Given the description of an element on the screen output the (x, y) to click on. 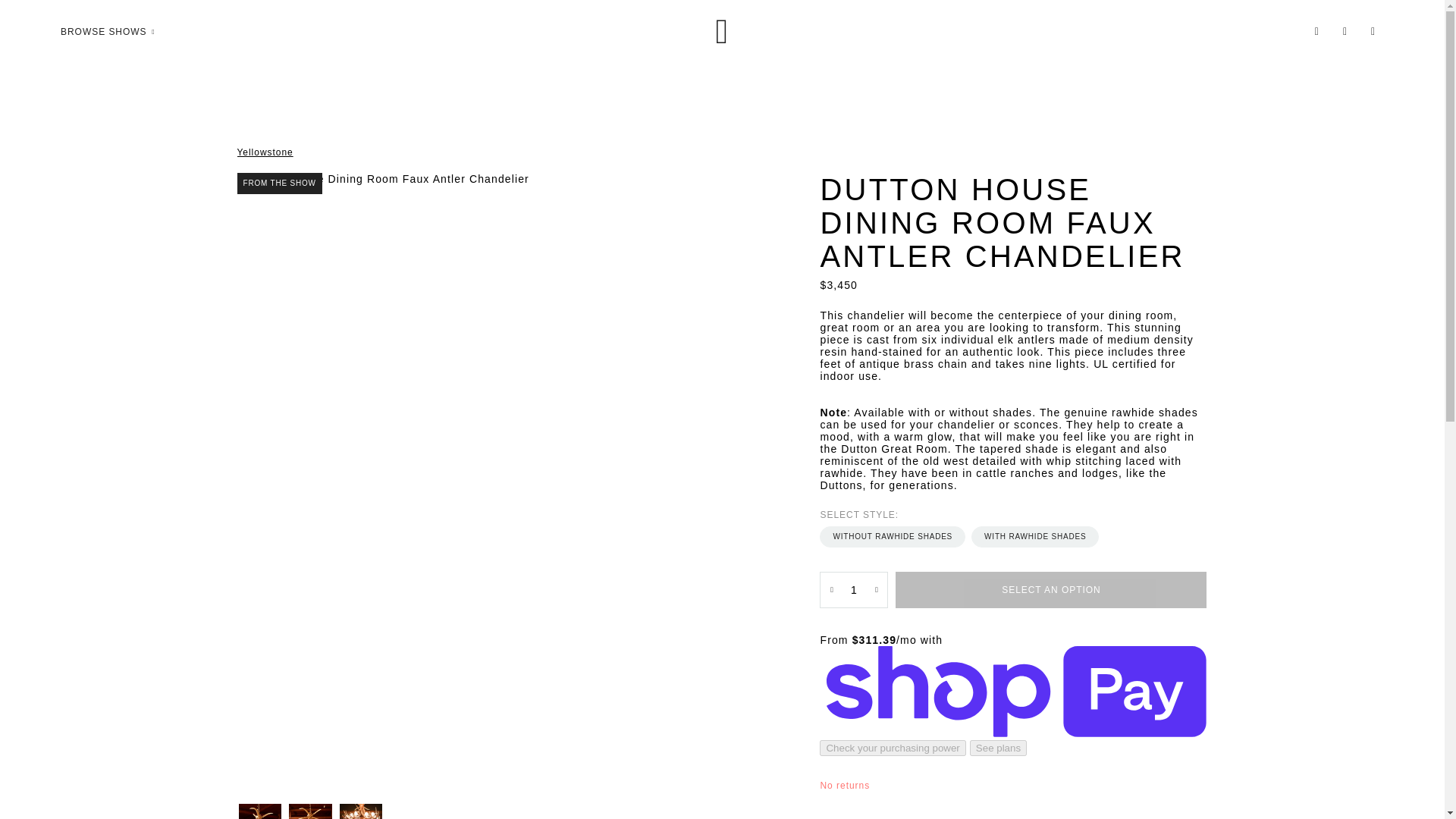
Yellowstone (263, 152)
Back to the Yellowstone landing page (263, 152)
